Given the description of an element on the screen output the (x, y) to click on. 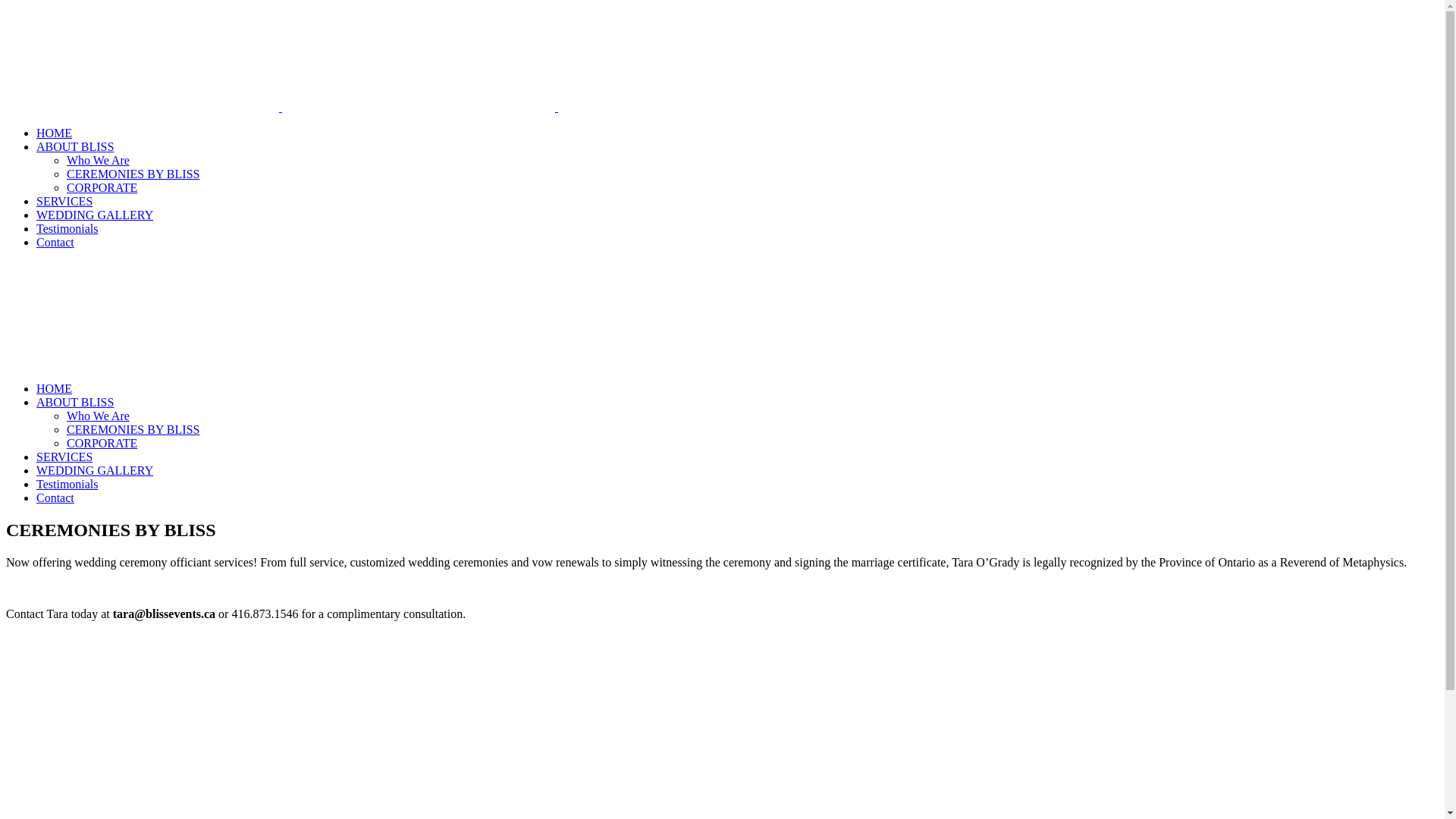
ABOUT BLISS Element type: text (74, 146)
Who We Are Element type: text (97, 415)
WEDDING GALLERY Element type: text (94, 470)
CEREMONIES BY BLISS Element type: text (132, 429)
SERVICES Element type: text (64, 200)
Who We Are Element type: text (97, 159)
Testimonials Element type: text (67, 483)
ABOUT BLISS Element type: text (74, 401)
Contact Element type: text (55, 241)
CORPORATE Element type: text (101, 442)
HOME Element type: text (54, 388)
CORPORATE Element type: text (101, 187)
WEDDING GALLERY Element type: text (94, 214)
SERVICES Element type: text (64, 456)
Contact Element type: text (55, 497)
Testimonials Element type: text (67, 228)
CEREMONIES BY BLISS Element type: text (132, 173)
HOME Element type: text (54, 132)
